Given the description of an element on the screen output the (x, y) to click on. 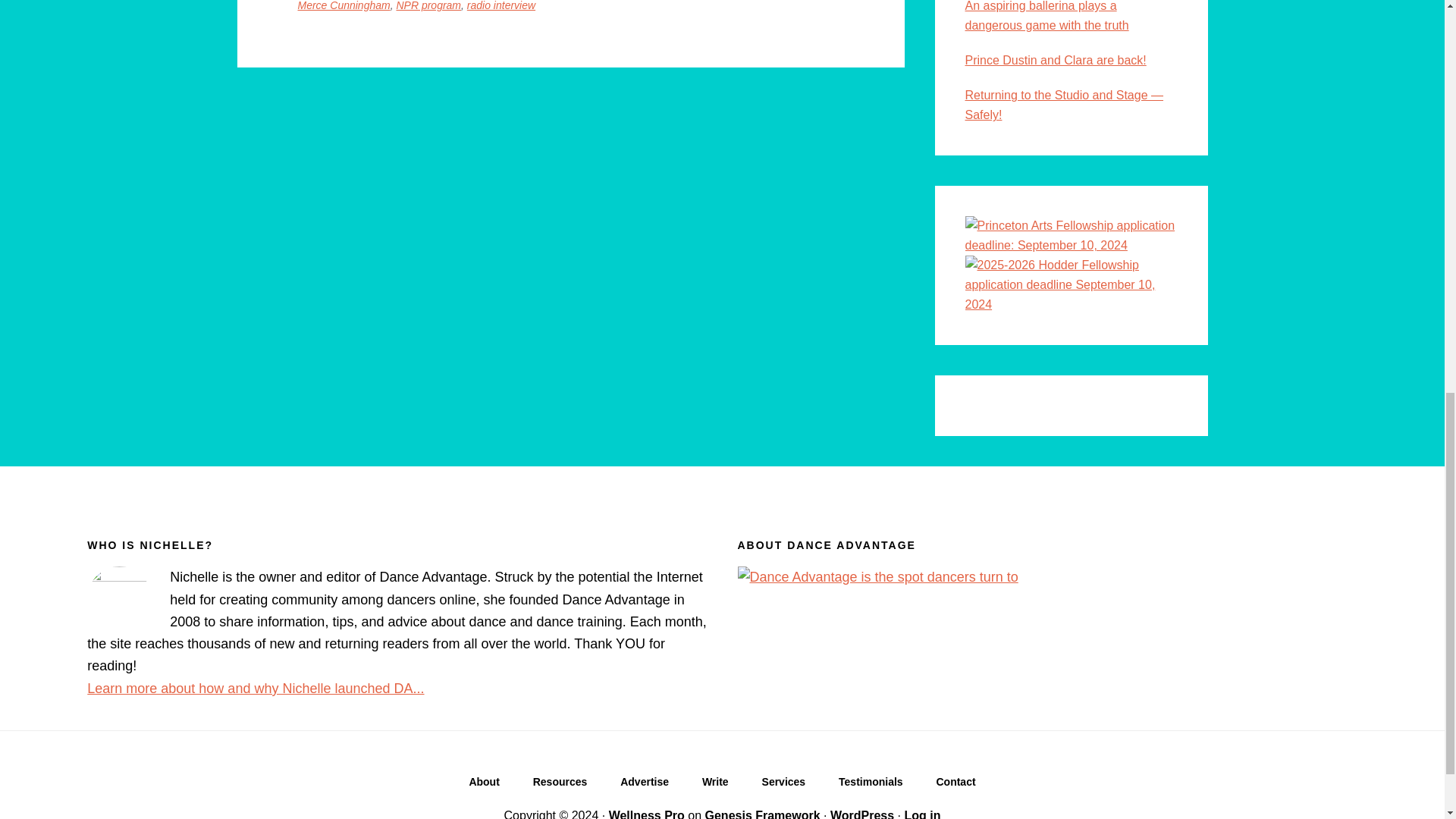
CLICK to see what makes DA tick (482, 785)
Merce Cunningham (343, 5)
Stuff we use and like (560, 785)
